Given the description of an element on the screen output the (x, y) to click on. 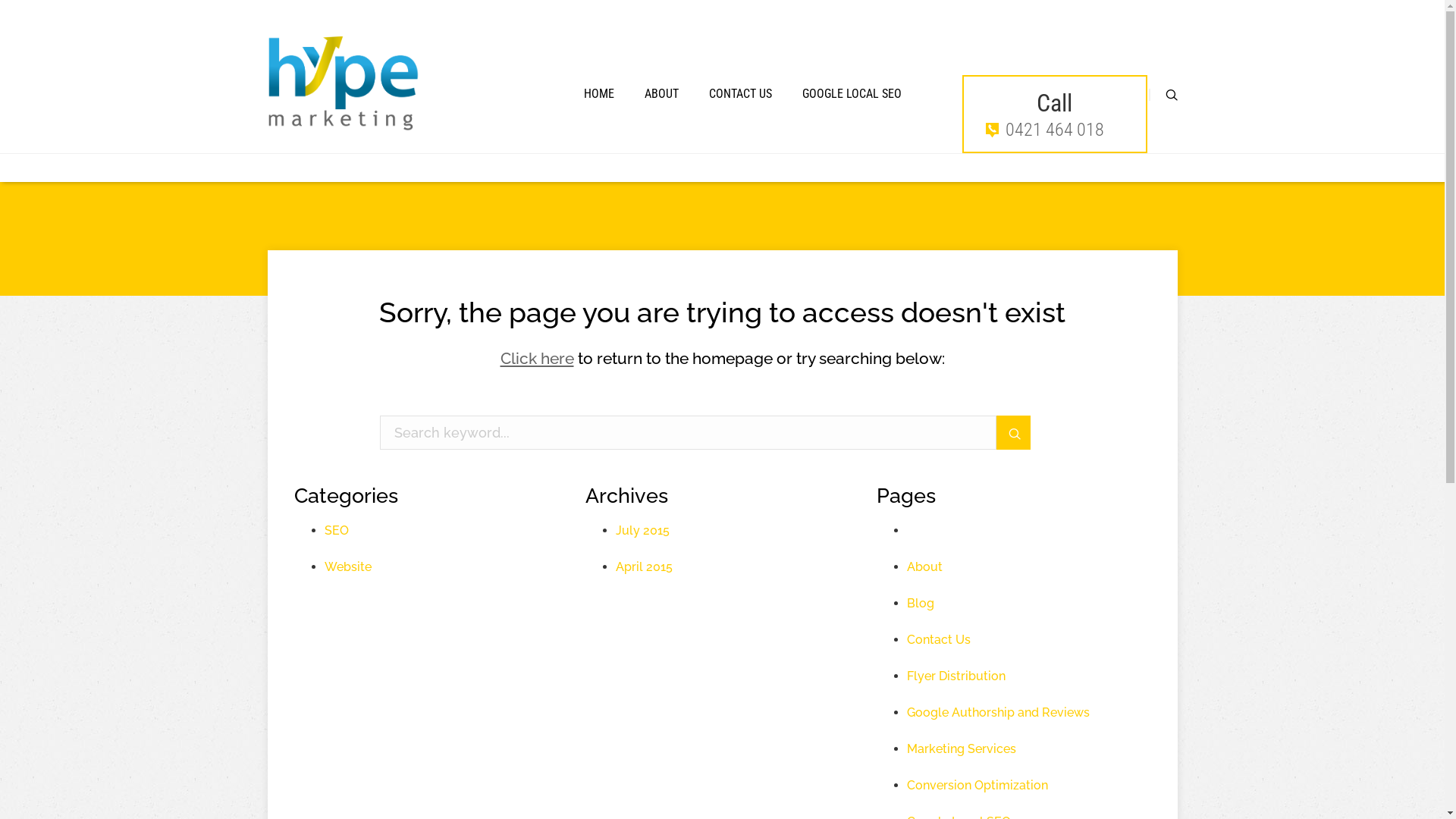
Blog Element type: text (920, 603)
GOOGLE LOCAL SEO Element type: text (851, 93)
ABOUT Element type: text (661, 93)
CONTACT US Element type: text (739, 93)
Contact Us Element type: text (938, 639)
Conversion Optimization Element type: text (977, 785)
April 2015 Element type: text (643, 566)
Google Authorship and Reviews Element type: text (997, 712)
Call
0421 464 018 Element type: text (1053, 114)
Website Element type: text (347, 566)
Click here Element type: text (537, 357)
About Element type: text (924, 566)
HOME Element type: text (598, 93)
Flyer Distribution Element type: text (955, 675)
Marketing Services Element type: text (961, 748)
SEO Element type: text (336, 530)
July 2015 Element type: text (642, 530)
